Given the description of an element on the screen output the (x, y) to click on. 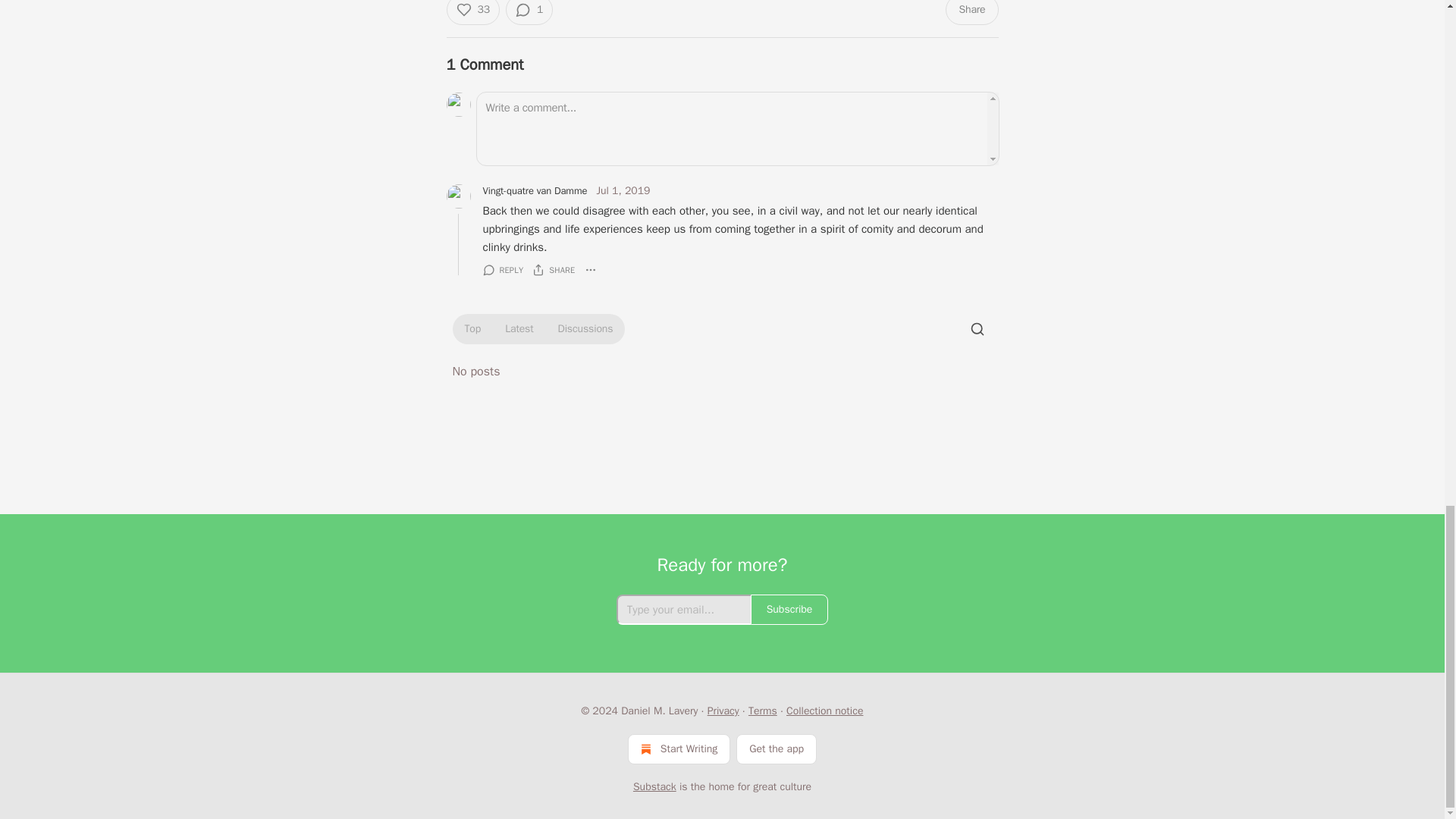
Top (471, 328)
Share (970, 12)
Discussions (585, 328)
SHARE (553, 269)
Jul 1, 2019 (622, 191)
Latest (518, 328)
REPLY (501, 269)
Vingt-quatre van Damme (533, 191)
33 (472, 12)
1 (529, 12)
